Given the description of an element on the screen output the (x, y) to click on. 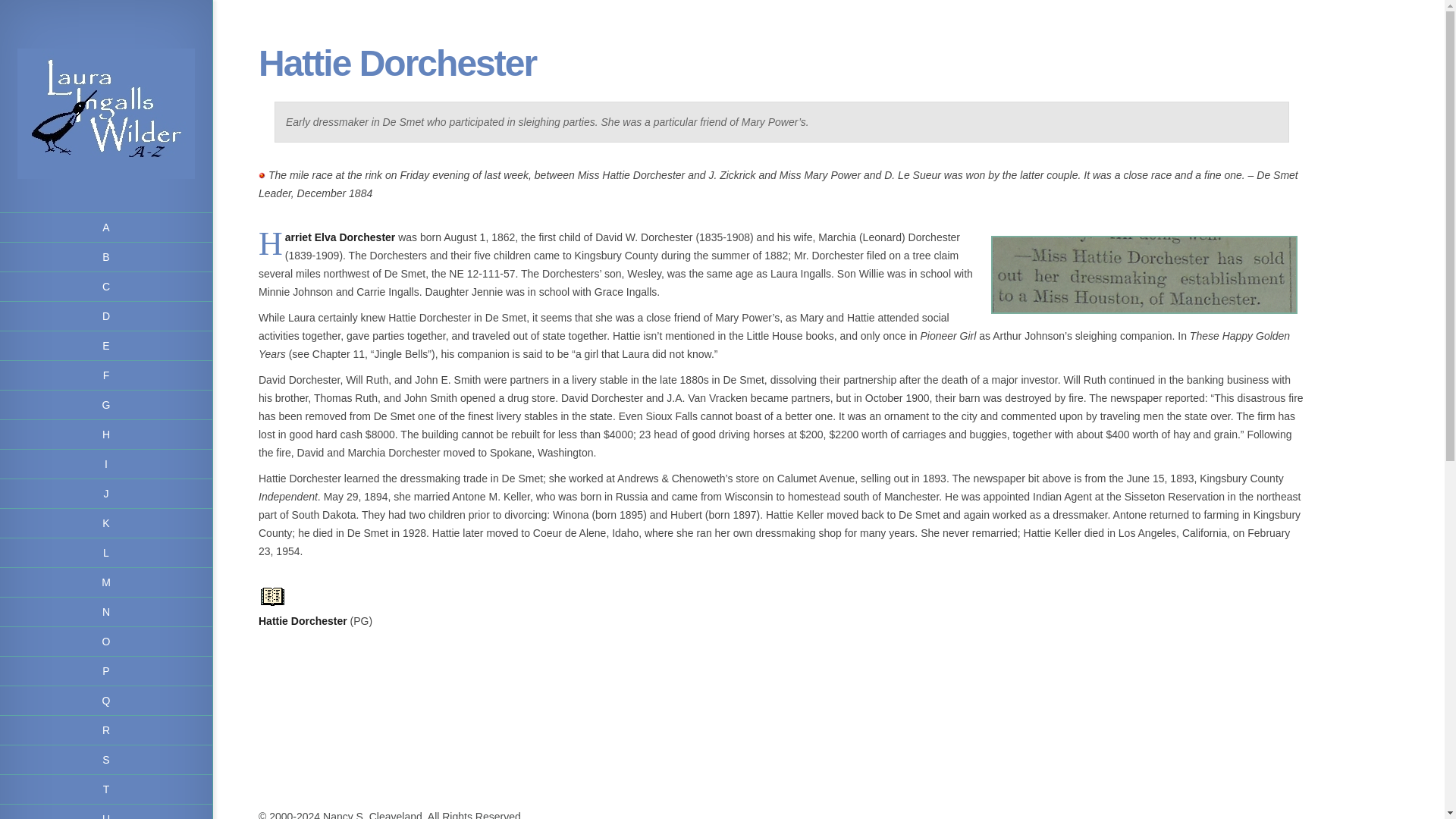
N (106, 612)
E (106, 346)
H (106, 434)
R (106, 730)
F (106, 375)
G (106, 405)
P (106, 671)
C (106, 286)
O (106, 641)
J (106, 493)
